Given the description of an element on the screen output the (x, y) to click on. 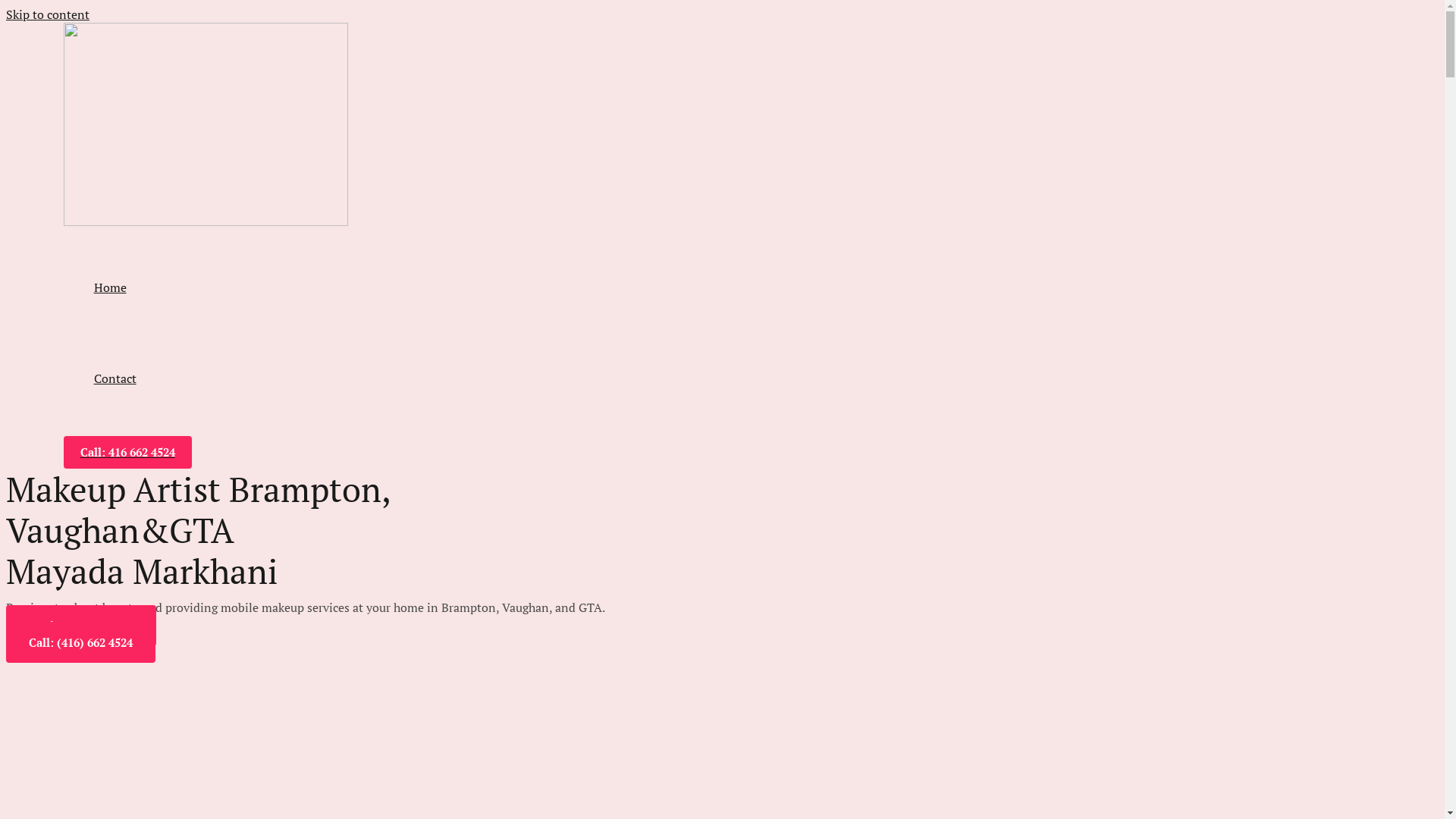
Book Appointment Element type: text (81, 625)
Contact Element type: text (115, 377)
Skip to content Element type: text (47, 14)
Home Element type: text (115, 286)
Call: (416) 662 4524 Element type: text (80, 641)
Call: 416 662 4524 Element type: text (127, 452)
